Given the description of an element on the screen output the (x, y) to click on. 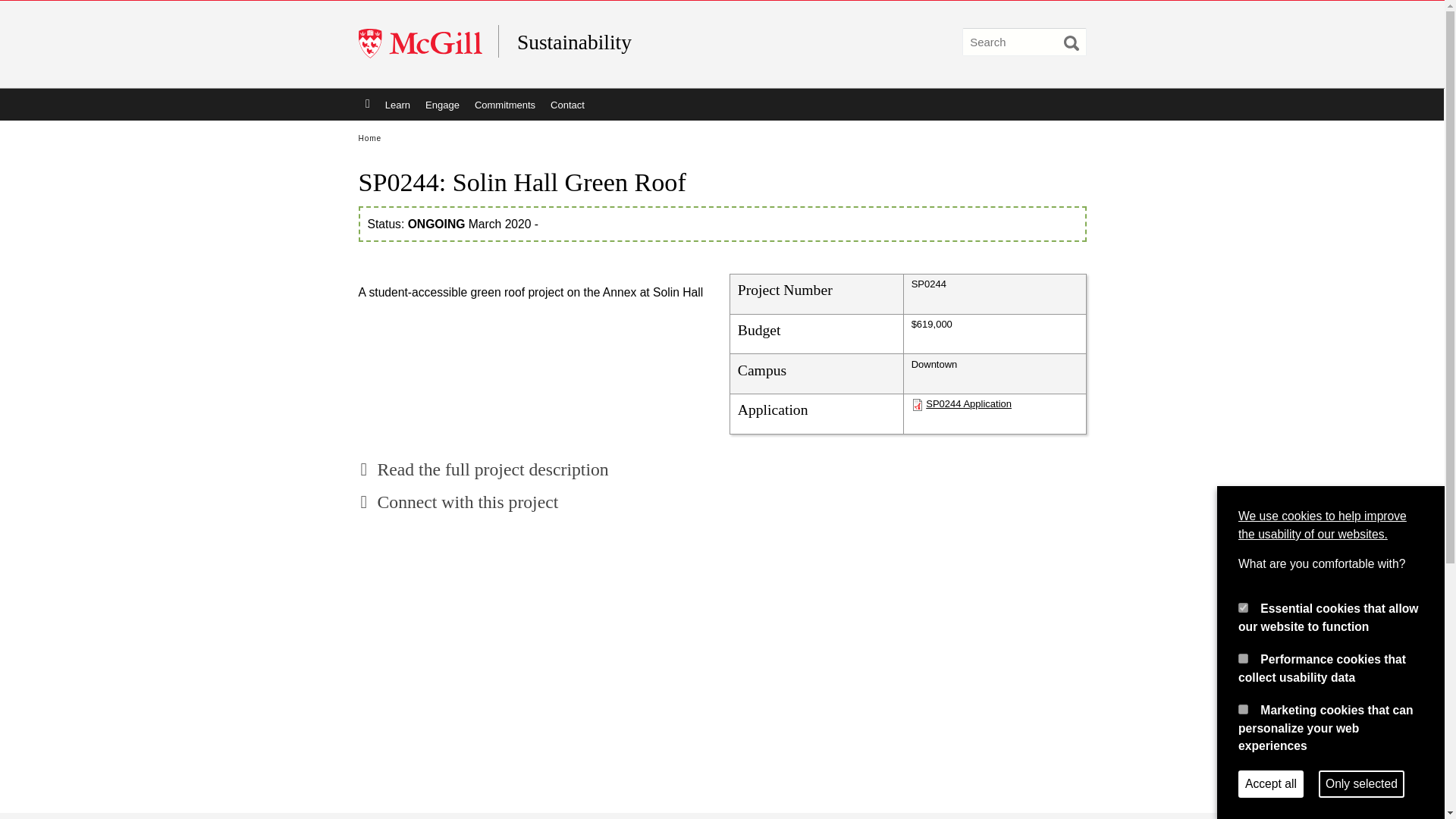
marketing (1243, 709)
Sustainability (664, 42)
performance (1243, 658)
McGill University (427, 44)
required (1243, 607)
Search (1070, 42)
Search (1070, 42)
return to McGill University (427, 44)
